Given the description of an element on the screen output the (x, y) to click on. 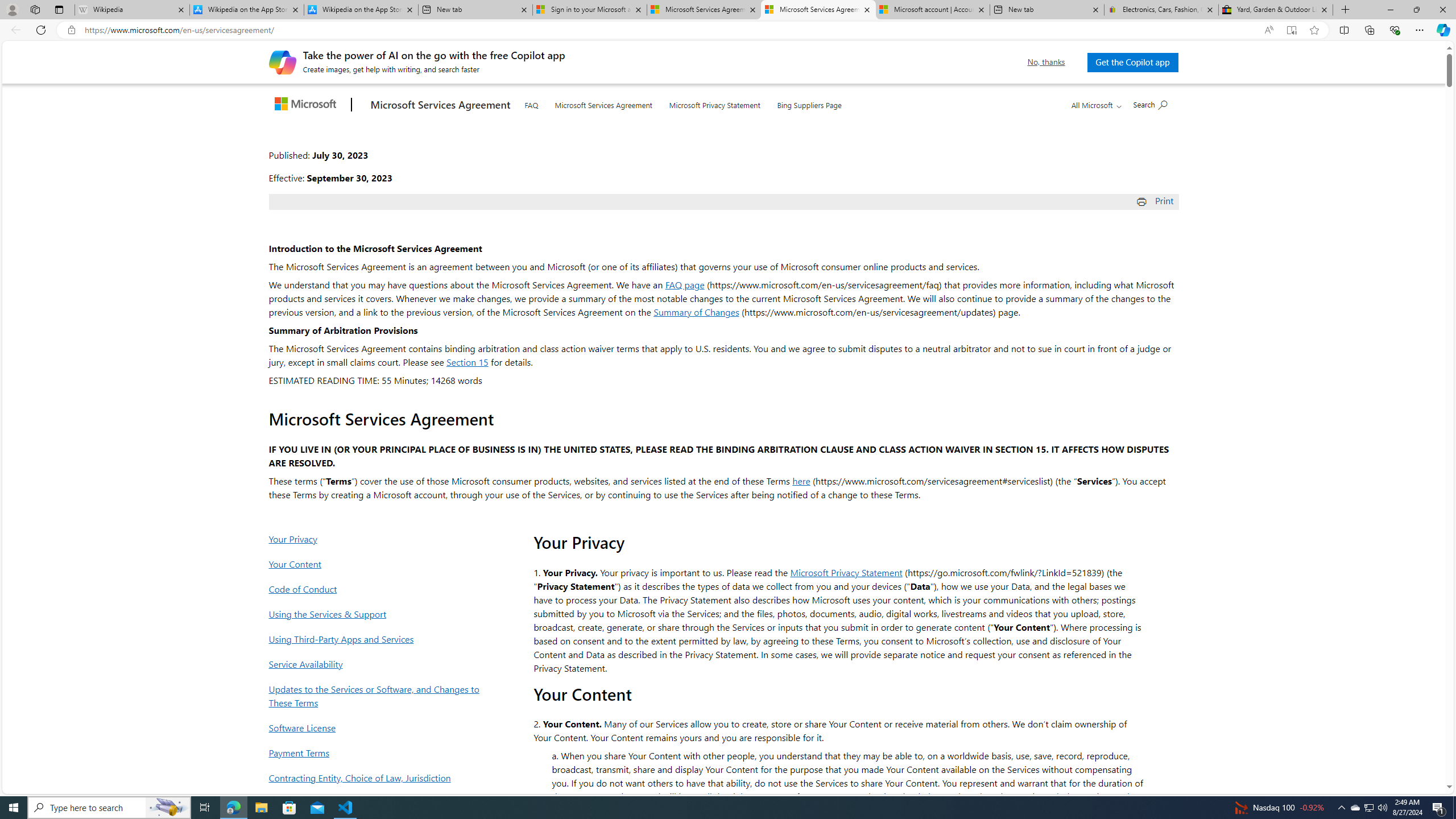
Section 15 (467, 361)
Print (1156, 200)
Search Microsoft.com (1150, 103)
Payment Terms (376, 752)
